Given the description of an element on the screen output the (x, y) to click on. 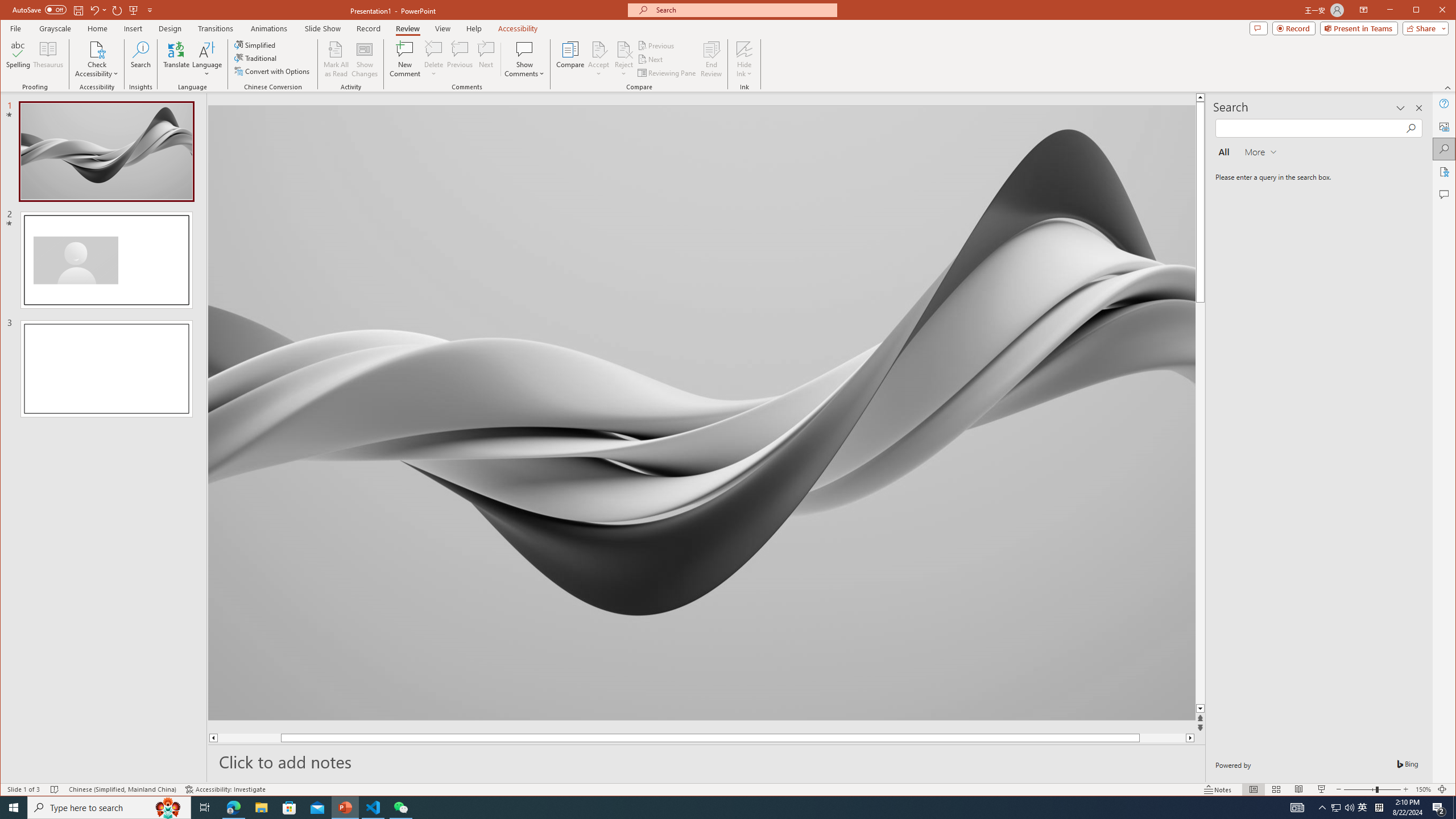
WeChat - 1 running window (400, 807)
Compare (569, 59)
Show Changes (365, 59)
Translate (175, 59)
Previous (657, 45)
Wavy 3D art (701, 412)
